Given the description of an element on the screen output the (x, y) to click on. 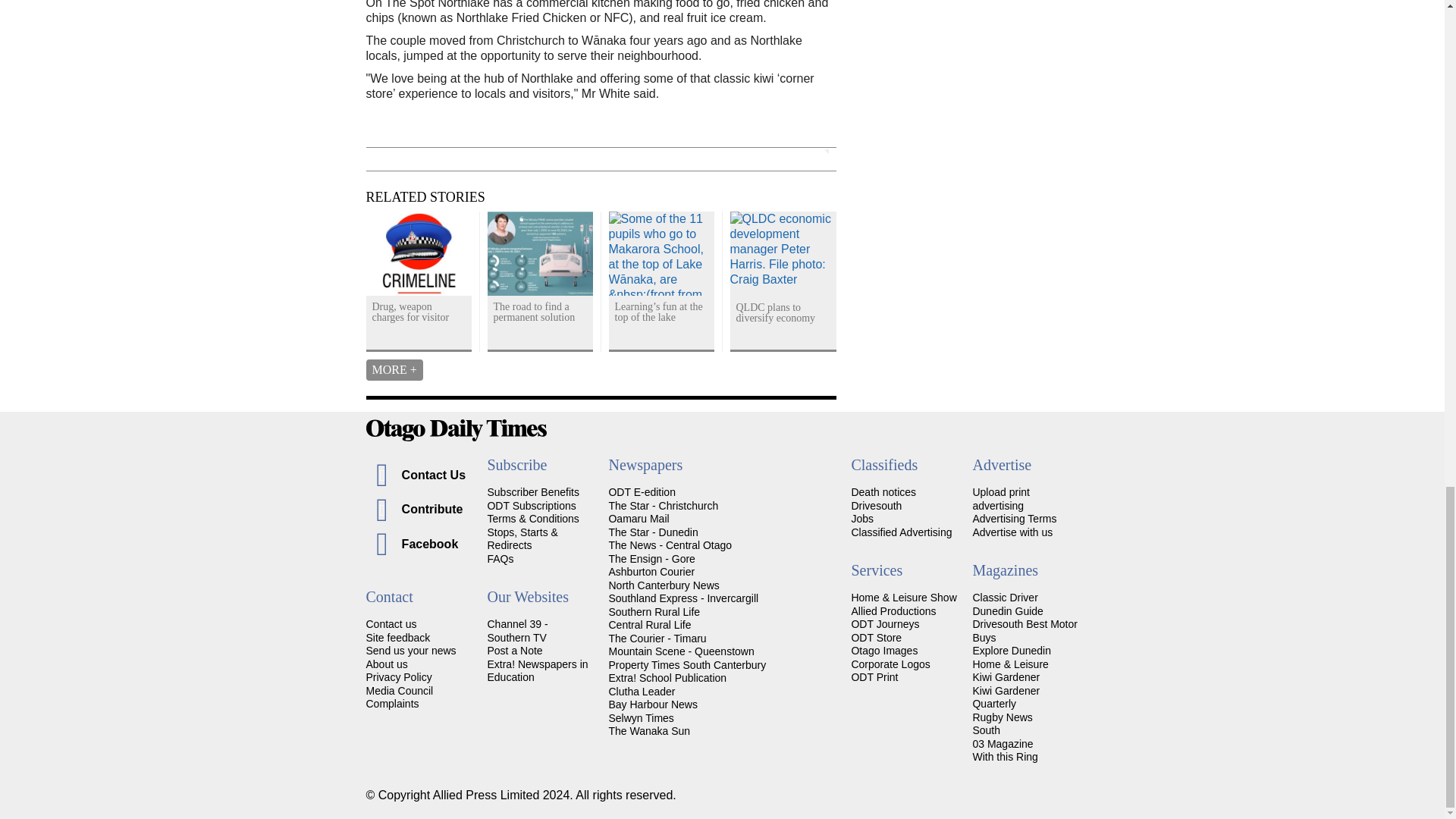
Home (721, 430)
Get the ODT delivered right to you! (532, 491)
Let us know what you think (397, 637)
Get in touch (390, 623)
Ways to subscribe to the Otago Daily Times (530, 505)
Send us your news and photos. (410, 650)
